Given the description of an element on the screen output the (x, y) to click on. 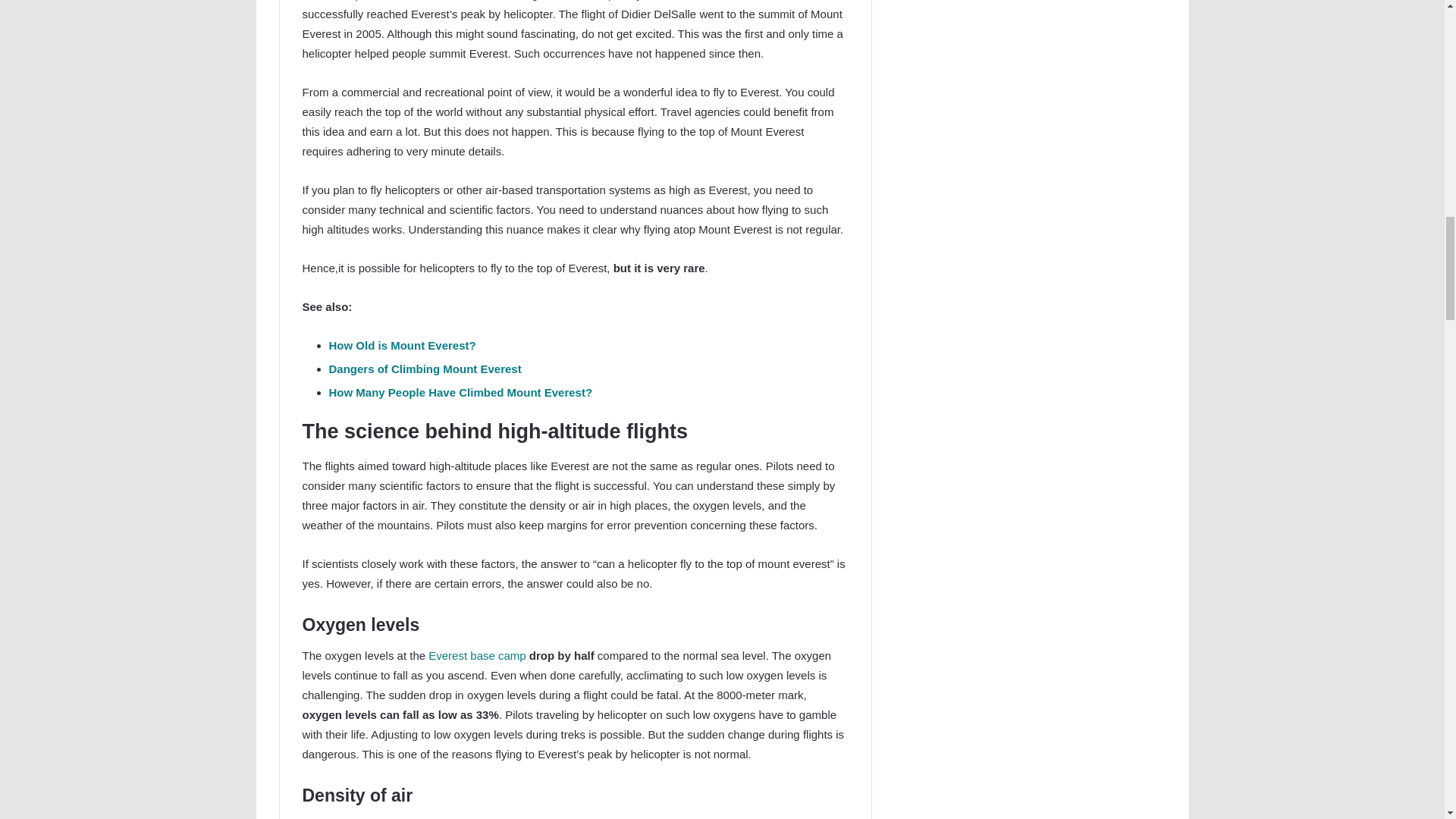
How Many People Have Climbed Mount Everest? (460, 391)
How Old is Mount Everest? (402, 345)
Everest base camp (476, 655)
Dangers of Climbing Mount Everest (425, 368)
